Given the description of an element on the screen output the (x, y) to click on. 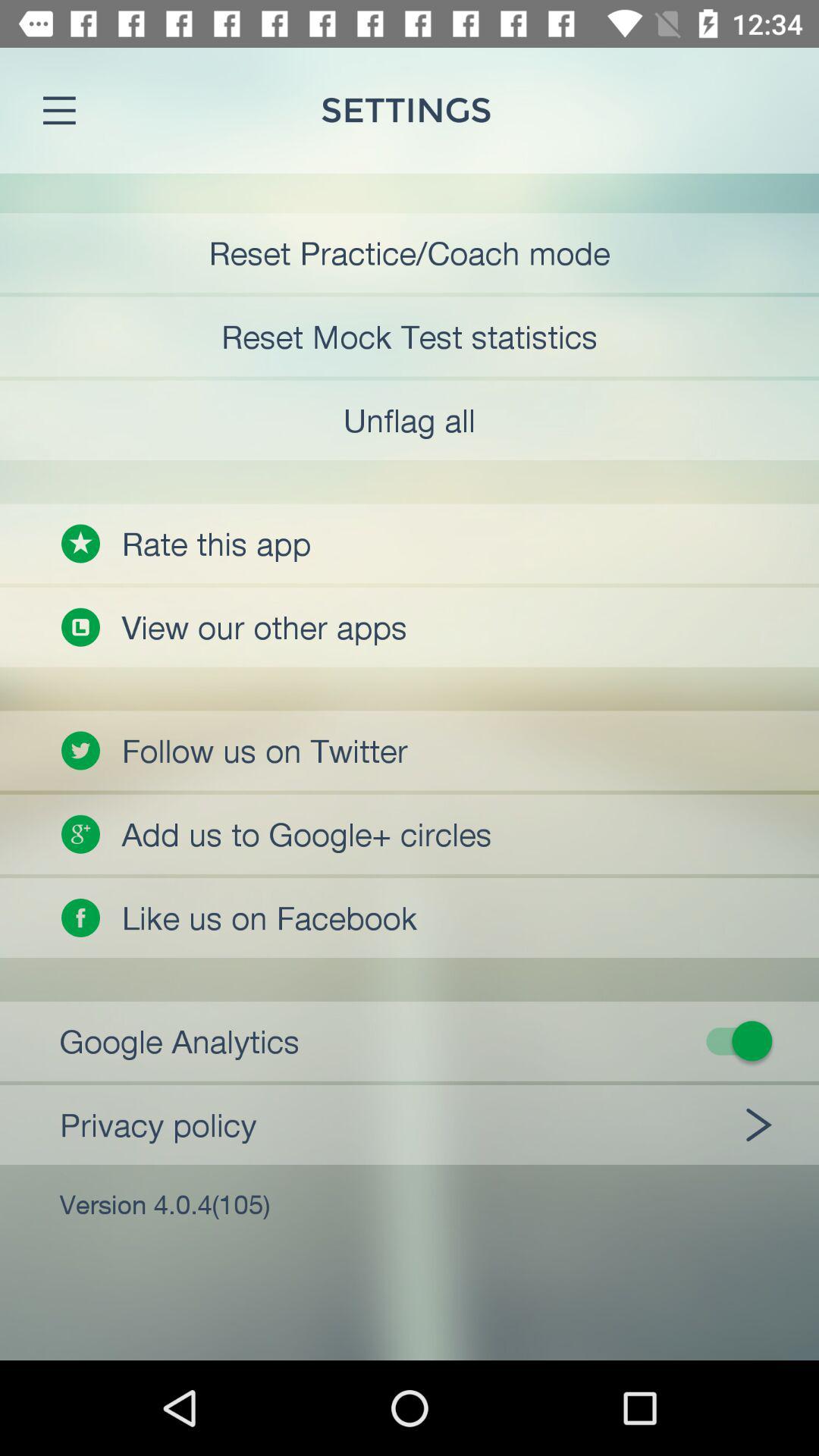
toggle analytics option (419, 1041)
